Given the description of an element on the screen output the (x, y) to click on. 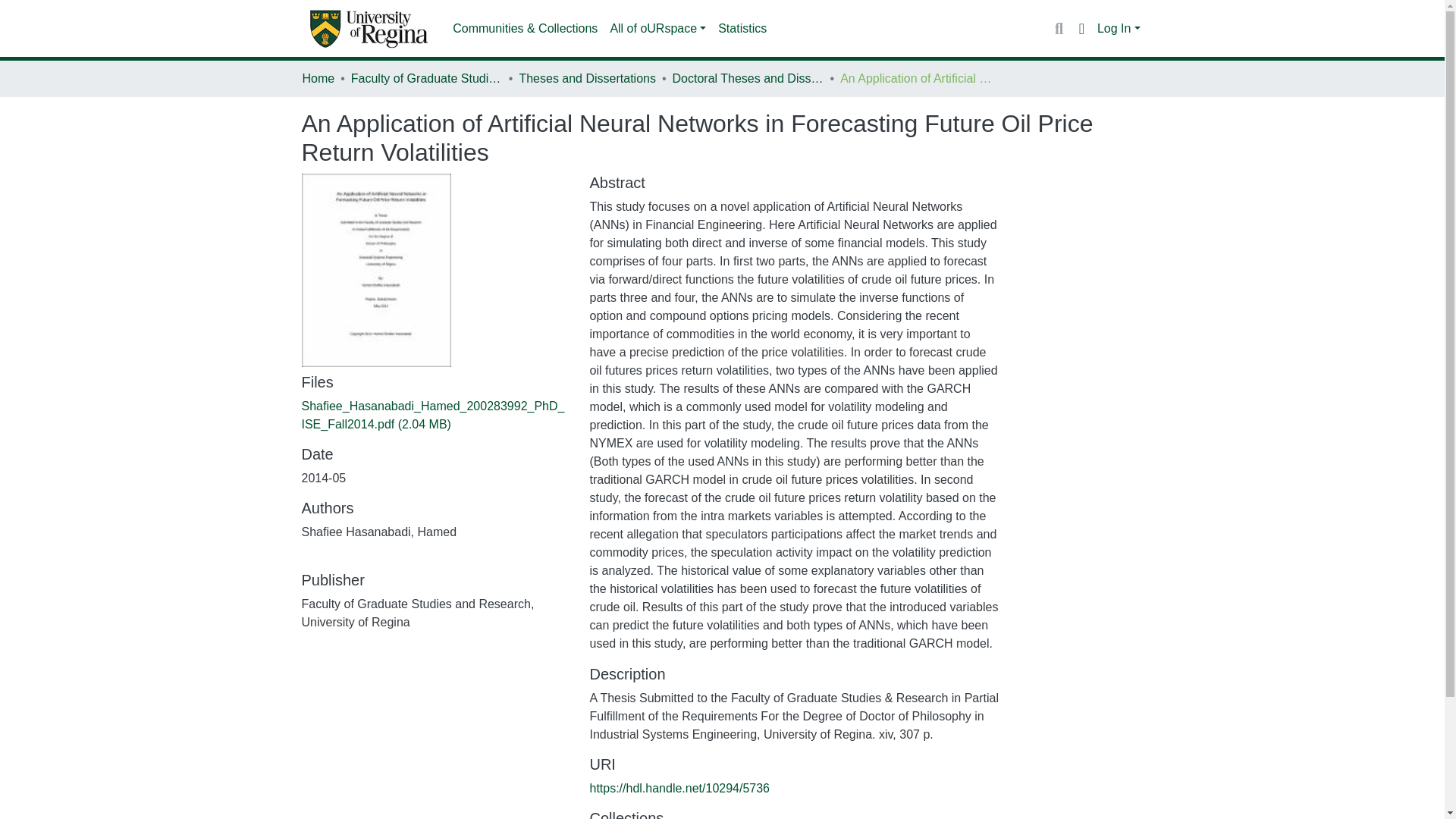
Statistics (742, 28)
Language switch (1081, 28)
Log In (1118, 28)
Doctoral Theses and Dissertations (748, 78)
Faculty of Graduate Studies and Research (426, 78)
All of oURspace (657, 28)
Theses and Dissertations (587, 78)
Search (1058, 28)
Home (317, 78)
Statistics (742, 28)
